Given the description of an element on the screen output the (x, y) to click on. 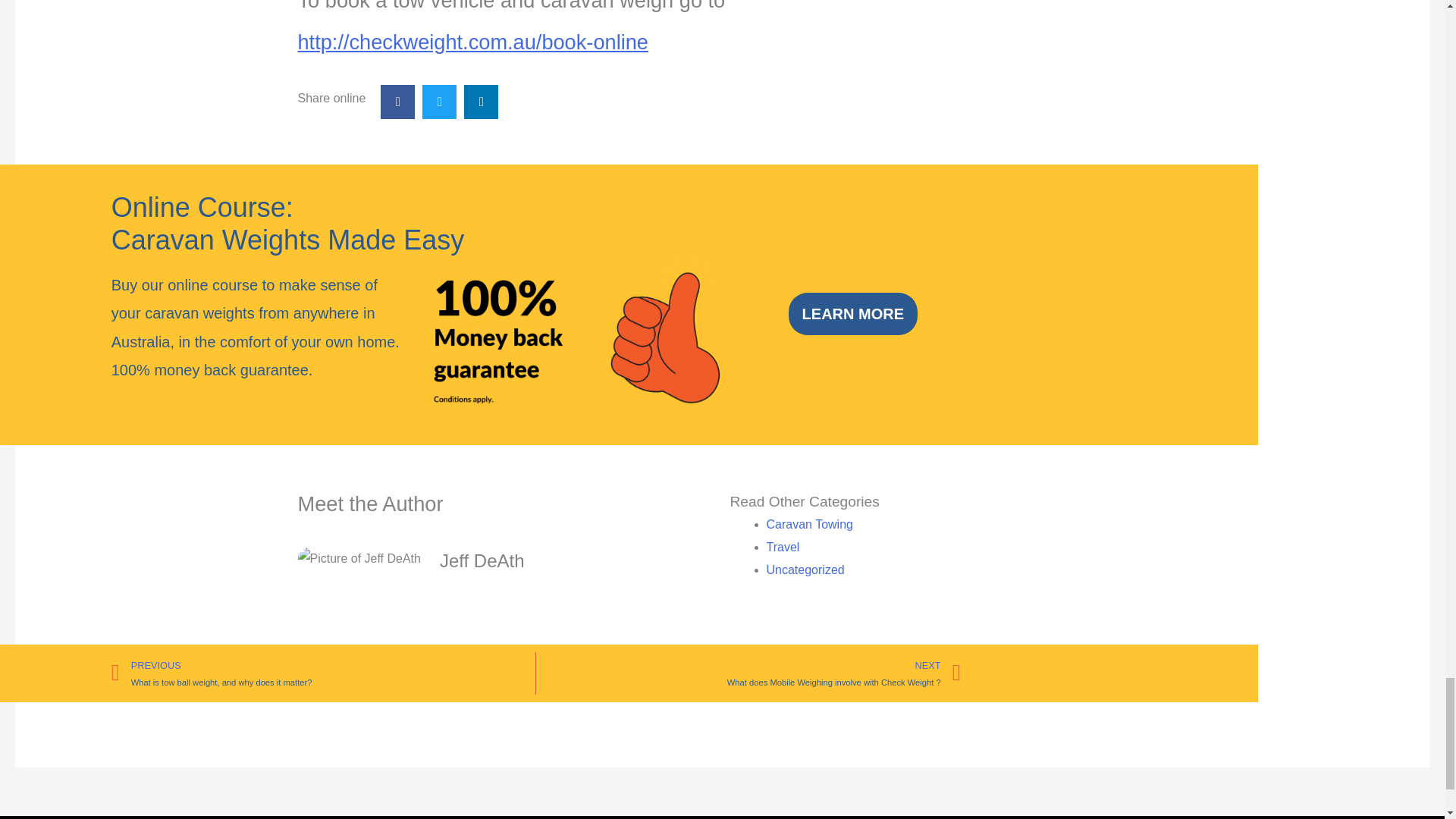
Caravan Towing (808, 523)
LEARN MORE (853, 313)
Travel (782, 546)
Uncategorized (804, 569)
